Given the description of an element on the screen output the (x, y) to click on. 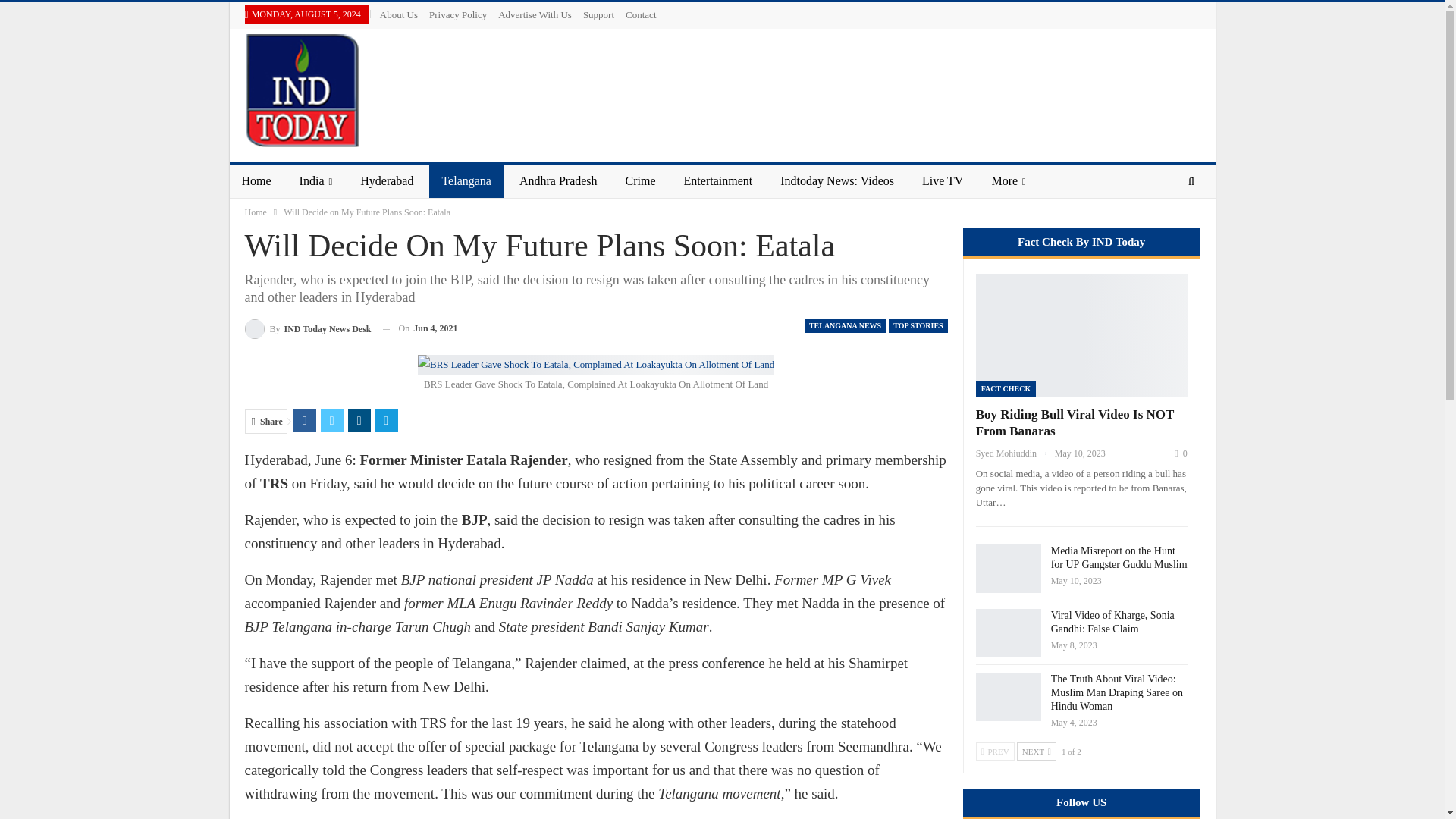
About Us (398, 14)
Live TV (942, 181)
Telangana (466, 181)
Crime (640, 181)
Advertisement (923, 87)
Privacy Policy (457, 14)
Entertainment (718, 181)
Media Misreport on the Hunt for UP Gangster Guddu Muslim (1008, 568)
Browse Author Articles (307, 328)
Andhra Pradesh (558, 181)
Boy Riding Bull Viral Video is NOT from Banaras (1081, 334)
More (1007, 181)
TOP STORIES (917, 325)
Support (598, 14)
Home (255, 211)
